Given the description of an element on the screen output the (x, y) to click on. 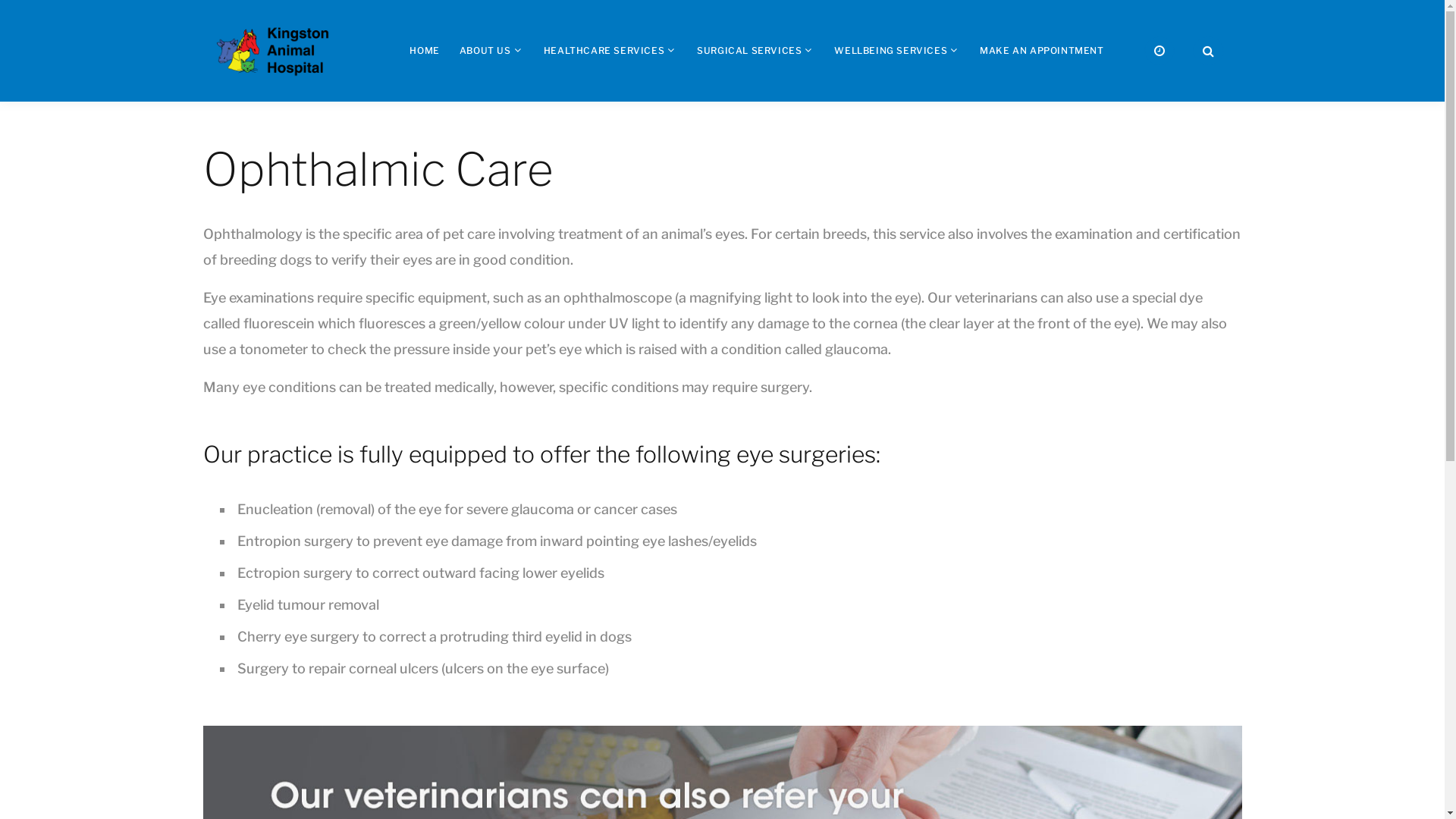
ABOUT US Element type: text (485, 50)
MAKE AN APPOINTMENT Element type: text (1041, 50)
WELLBEING SERVICES Element type: text (890, 50)
SURGICAL SERVICES Element type: text (748, 50)
HOME Element type: text (424, 50)
HEALTHCARE SERVICES Element type: text (603, 50)
